Given the description of an element on the screen output the (x, y) to click on. 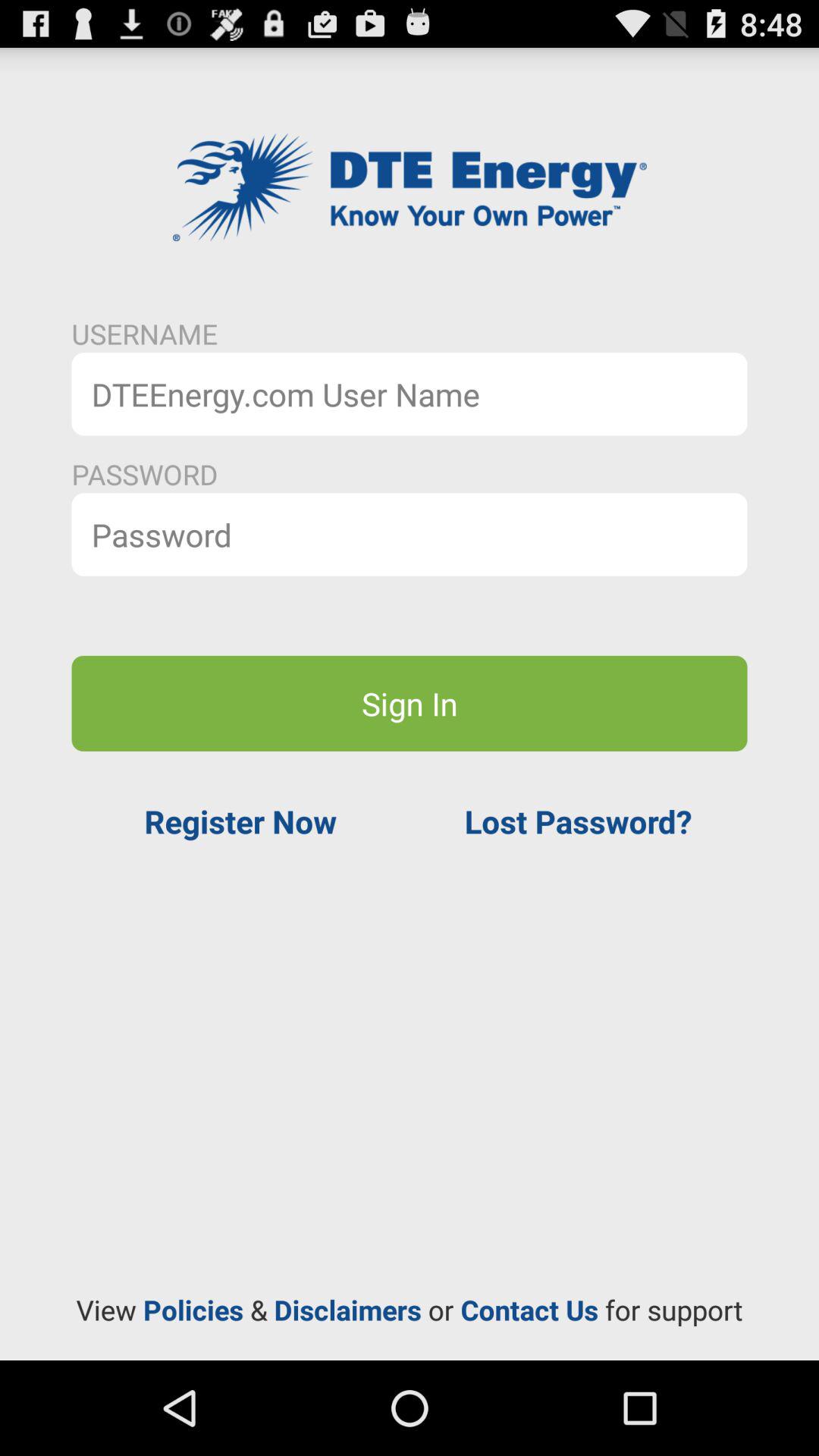
open the app above the register now item (409, 703)
